Given the description of an element on the screen output the (x, y) to click on. 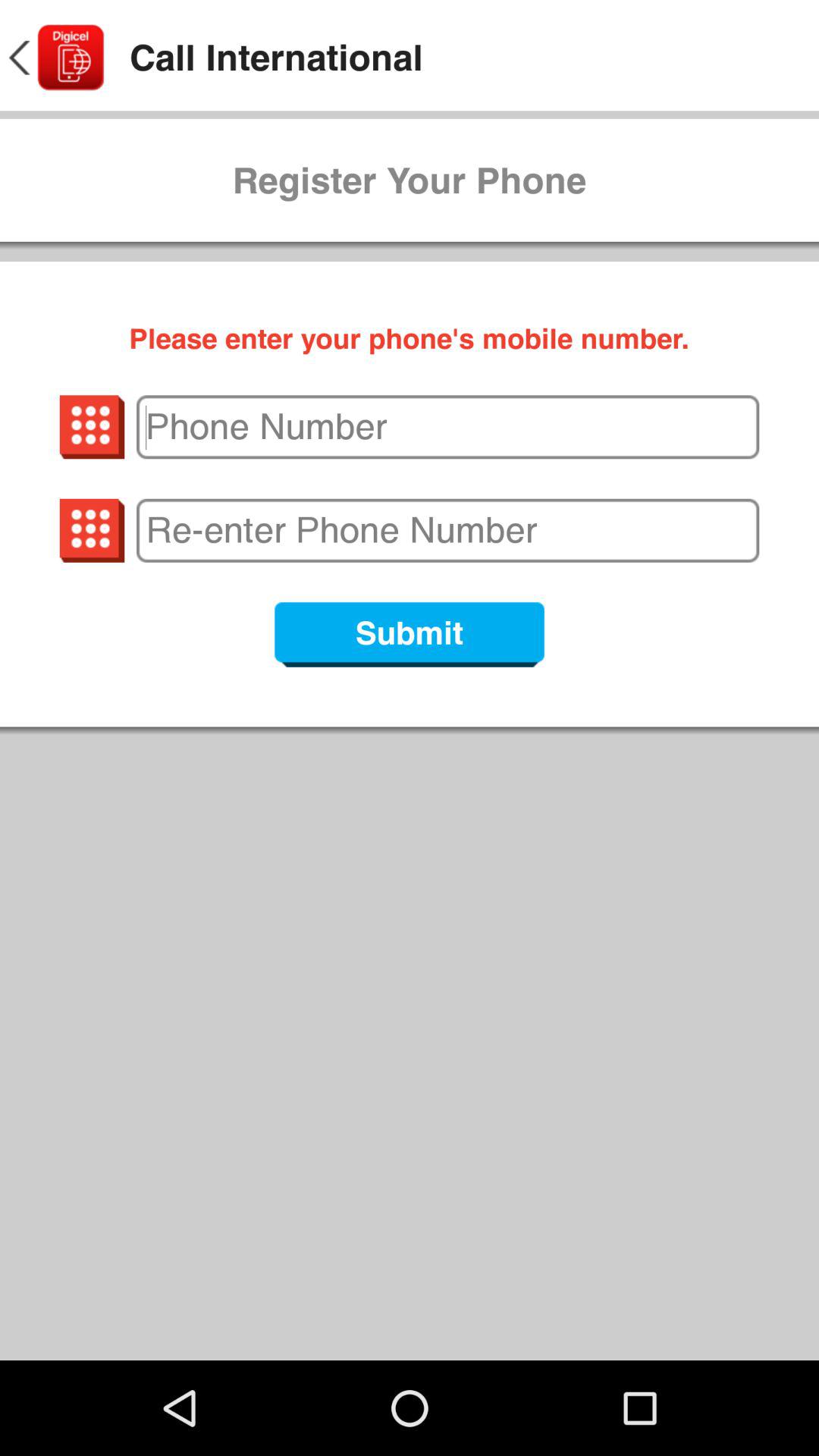
type phone number (447, 426)
